Given the description of an element on the screen output the (x, y) to click on. 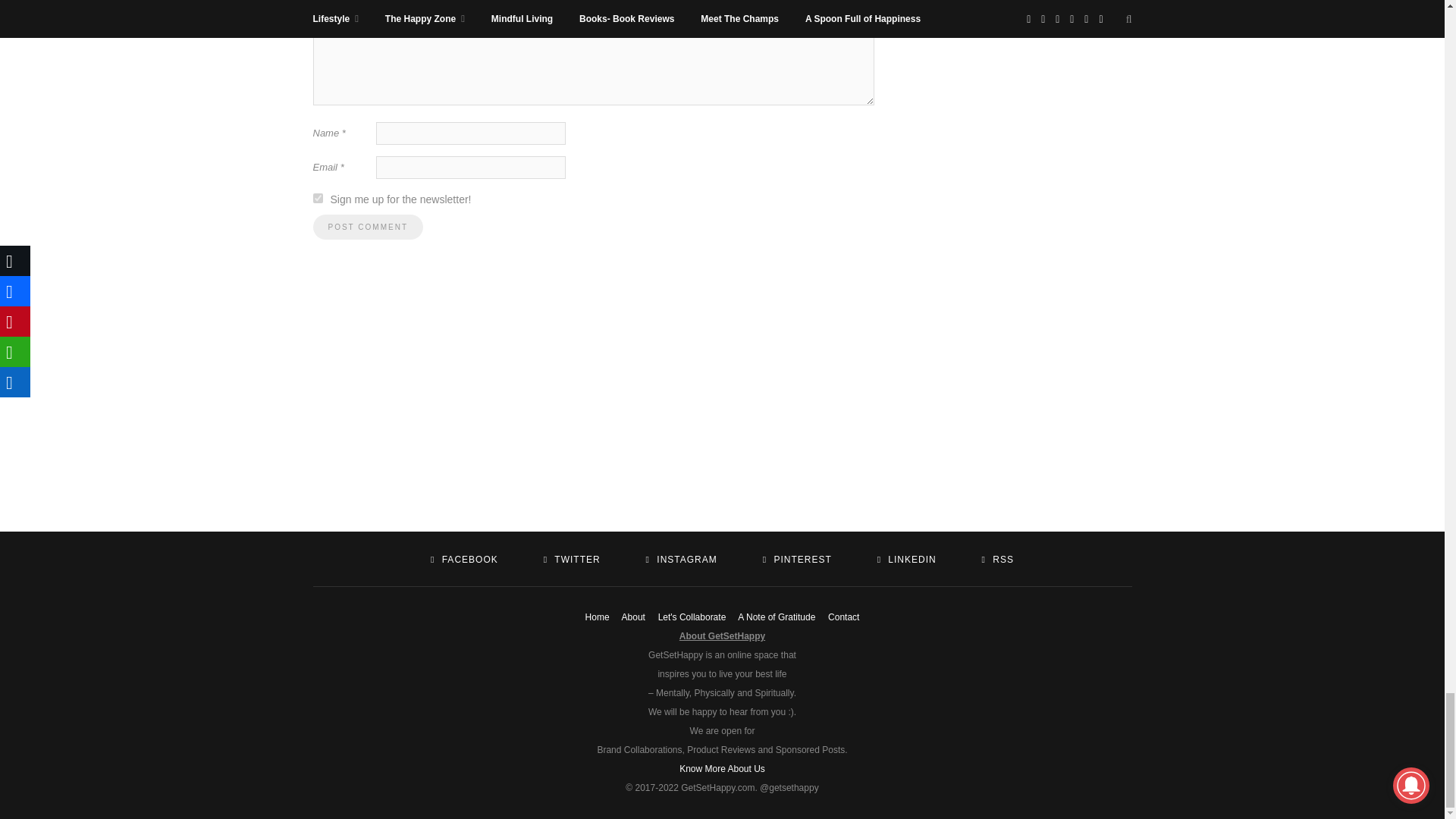
Post Comment (367, 226)
1 (317, 198)
